Given the description of an element on the screen output the (x, y) to click on. 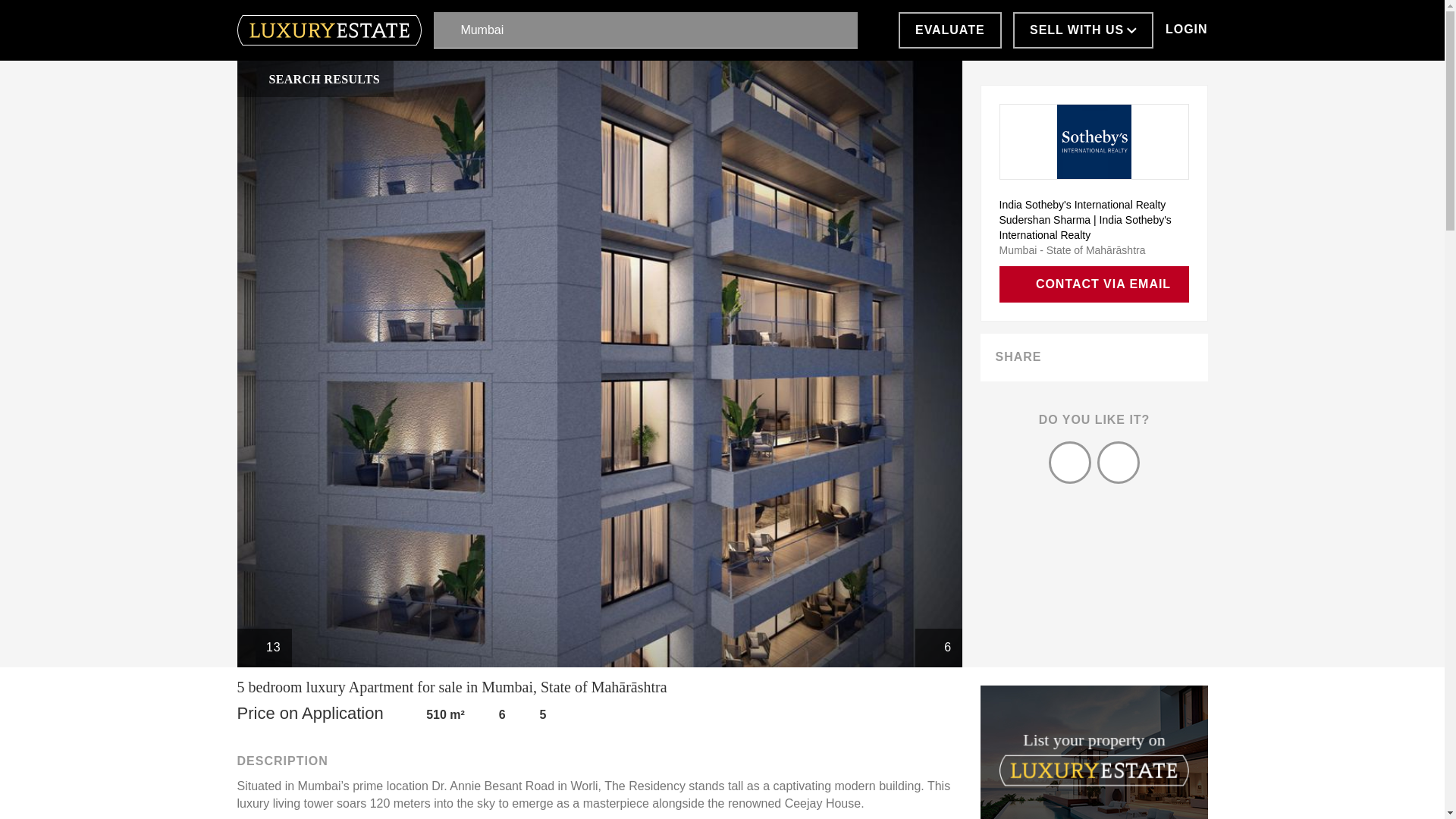
SELL WITH US (1083, 30)
EVALUATE (949, 30)
India Sotheby's International Realty (1093, 205)
Mumbai (645, 30)
LOGIN (1186, 30)
CONTACT VIA EMAIL (1093, 284)
